Given the description of an element on the screen output the (x, y) to click on. 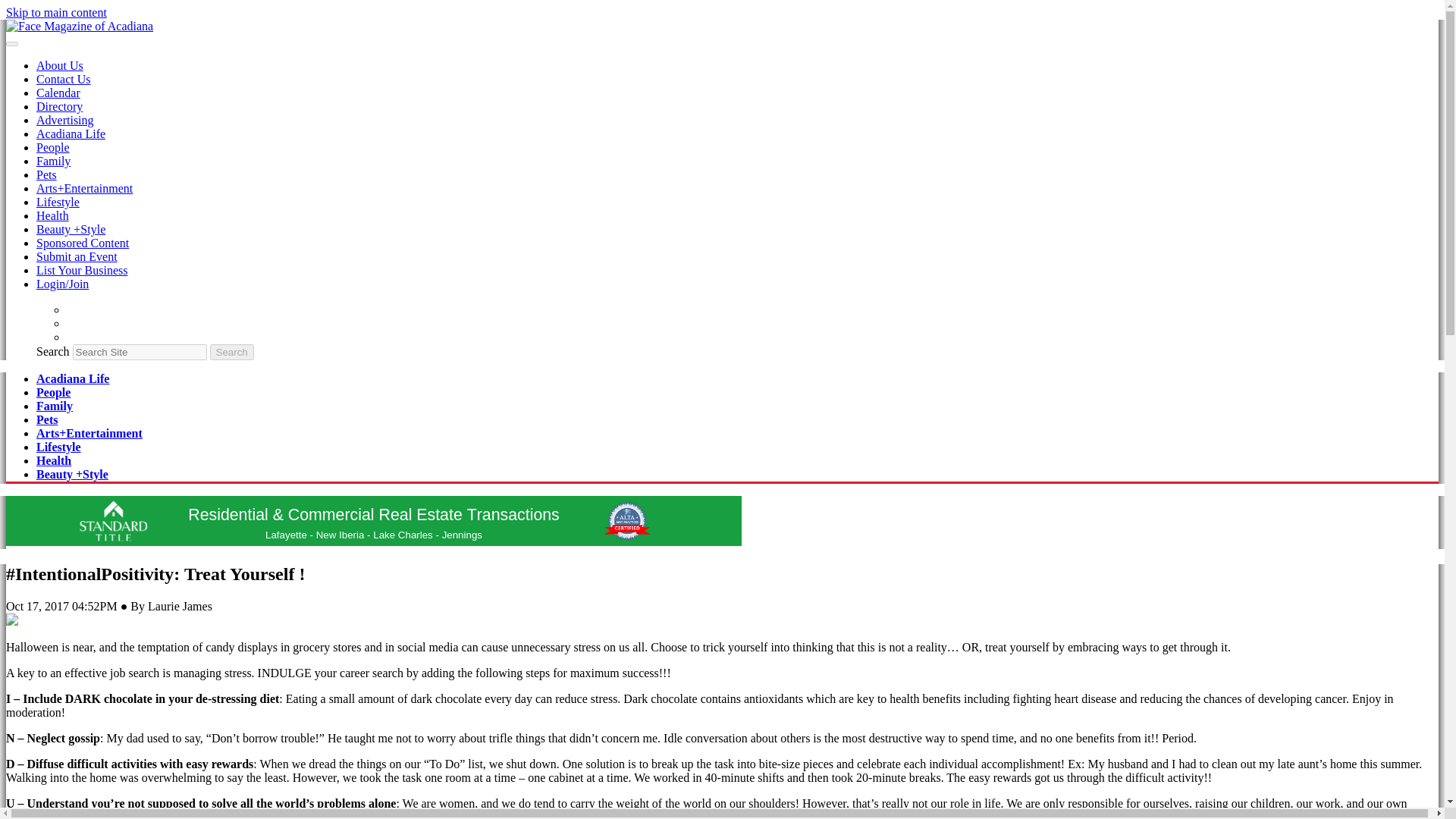
Acadiana Life (72, 378)
About Us (59, 65)
Pets (46, 174)
Submit an Event (76, 256)
People (52, 391)
Calendar (58, 92)
Family (54, 405)
Search (231, 351)
Health (52, 215)
List Your Business (82, 269)
